Given the description of an element on the screen output the (x, y) to click on. 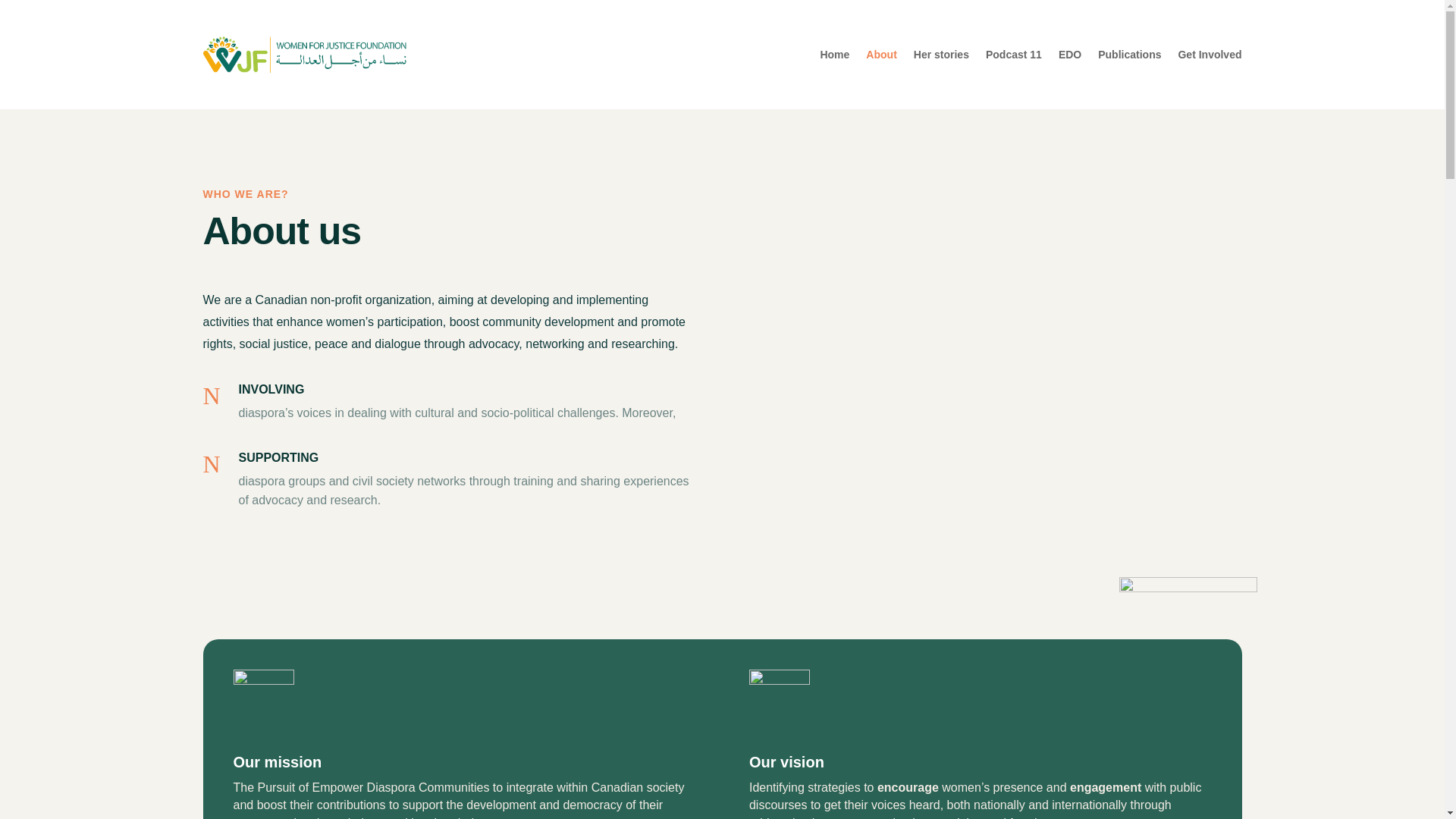
Get Involved (1209, 54)
Podcast 11 (1013, 54)
NGO-img-02 (1188, 645)
Her stories (941, 54)
Publications (1128, 54)
